Given the description of an element on the screen output the (x, y) to click on. 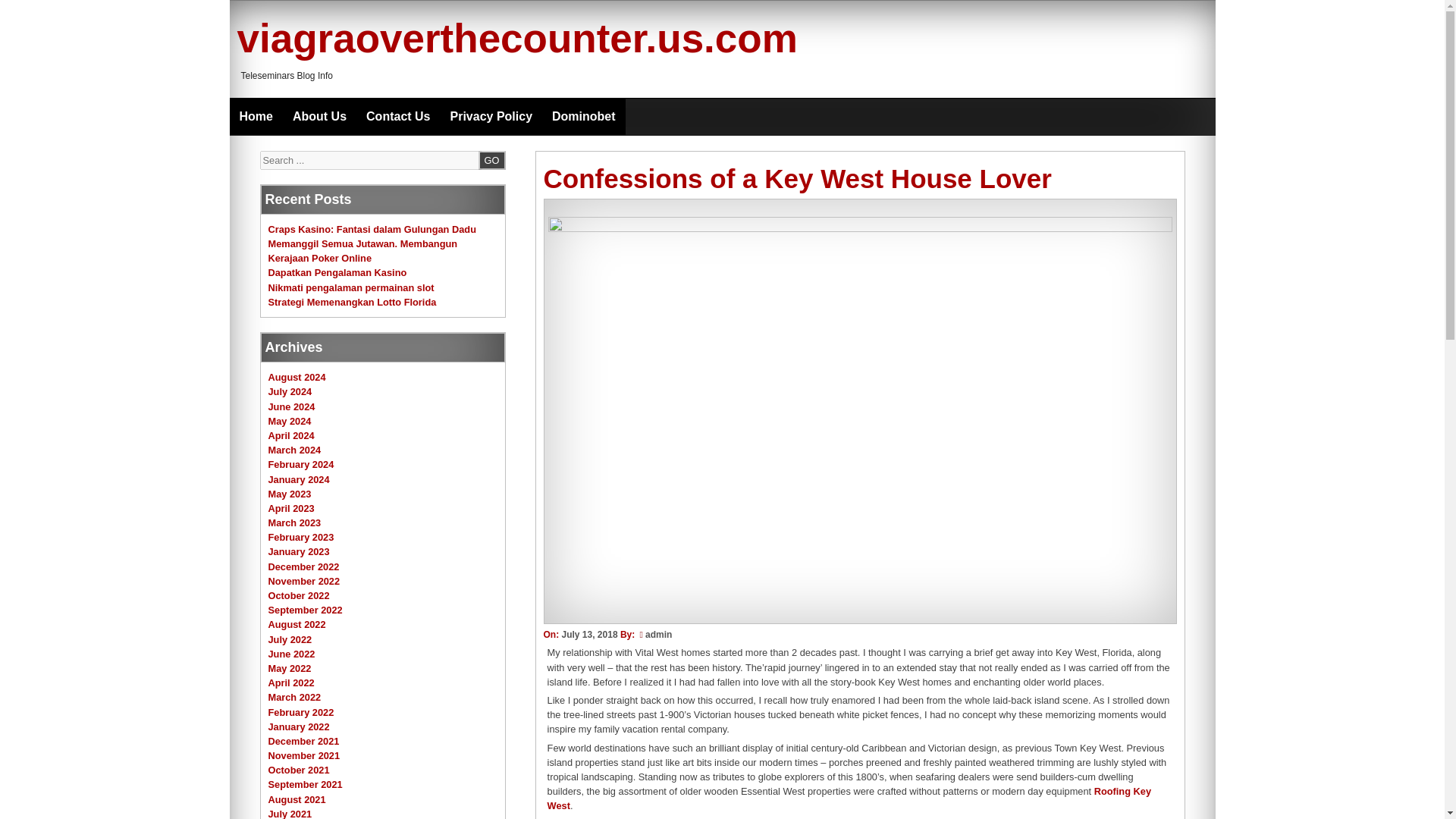
April 2024 (290, 435)
January 2024 (298, 478)
March 2024 (294, 449)
February 2023 (300, 536)
August 2024 (296, 377)
Nikmati pengalaman permainan slot (350, 287)
June 2024 (291, 406)
March 2023 (294, 522)
viagraoverthecounter.us.com (515, 37)
admin (658, 634)
